Given the description of an element on the screen output the (x, y) to click on. 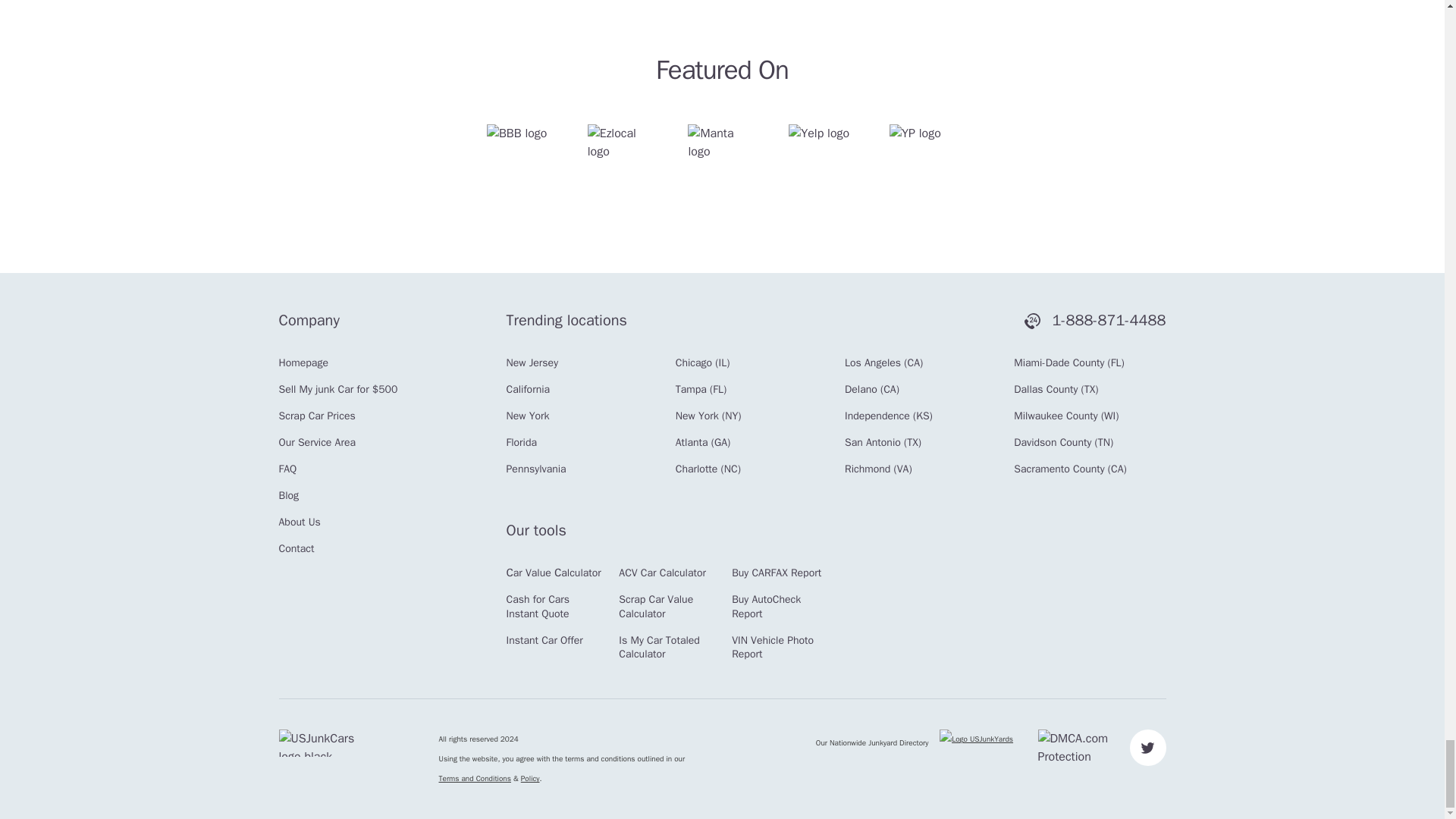
DMCA.com Protection Status (1079, 747)
Call us (1095, 320)
